Given the description of an element on the screen output the (x, y) to click on. 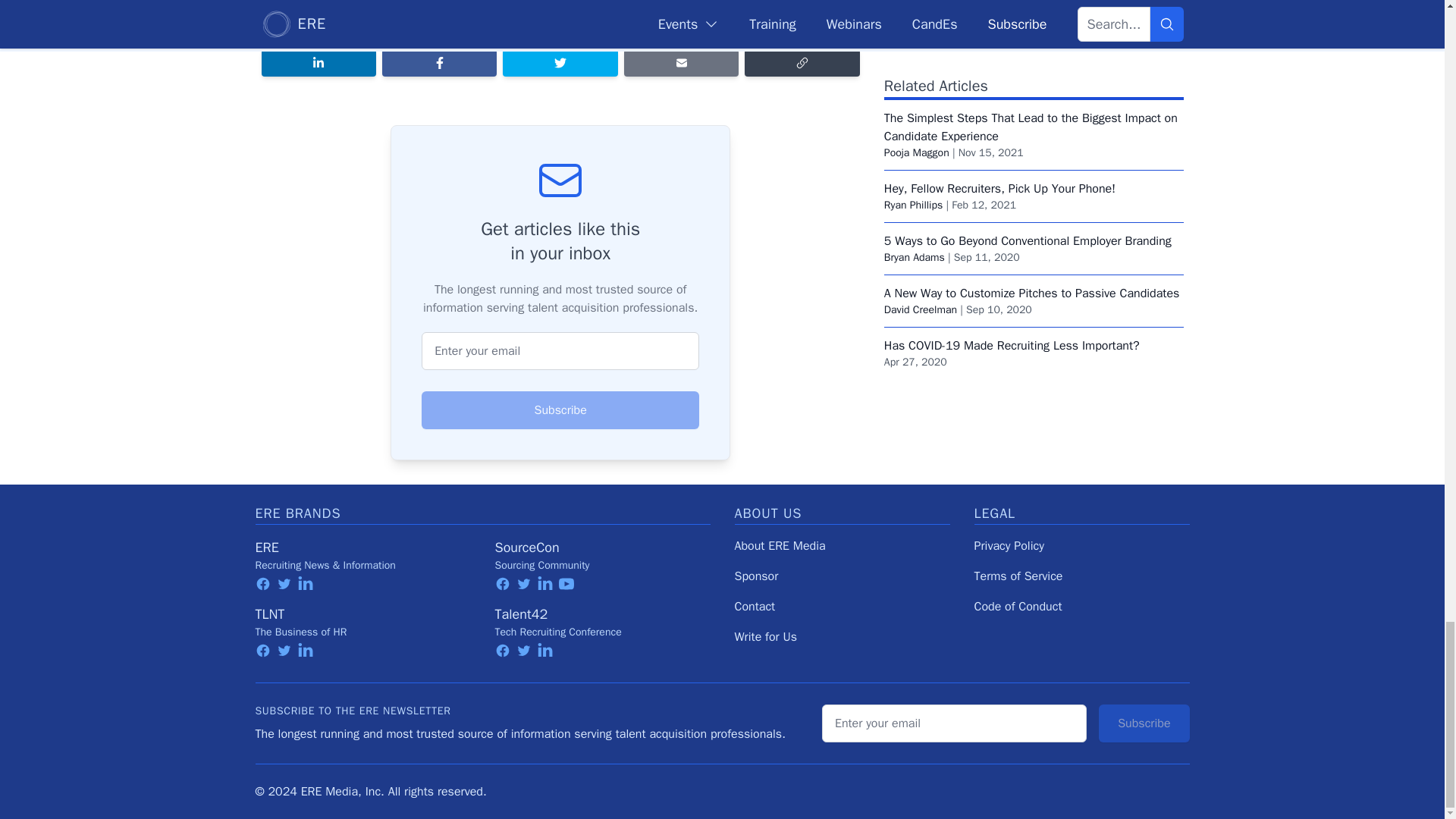
Subscribe (560, 410)
